Given the description of an element on the screen output the (x, y) to click on. 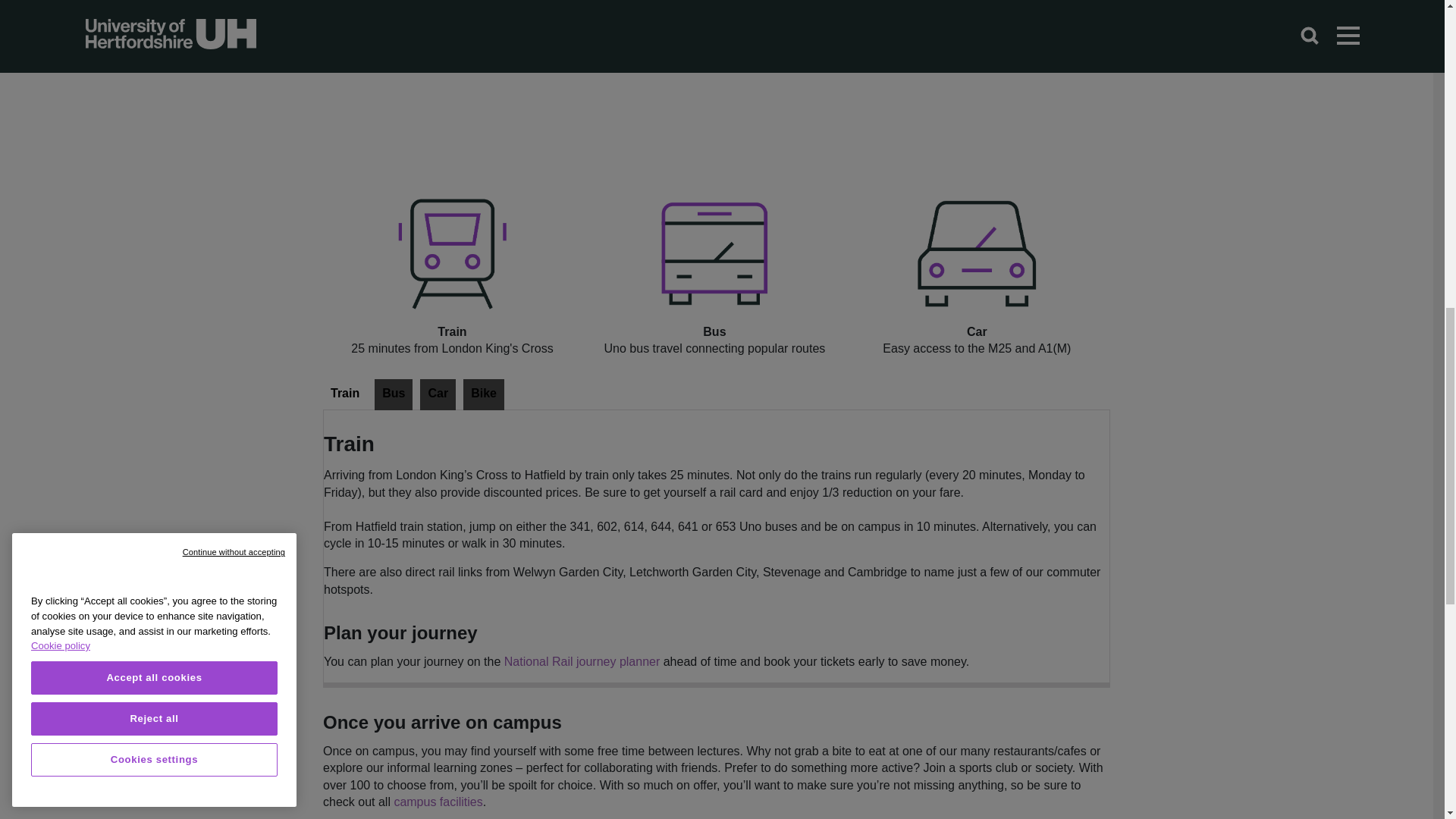
National Rail Journey Planner (581, 661)
National Rail journey planner (581, 661)
Campus facilities (437, 801)
